Given the description of an element on the screen output the (x, y) to click on. 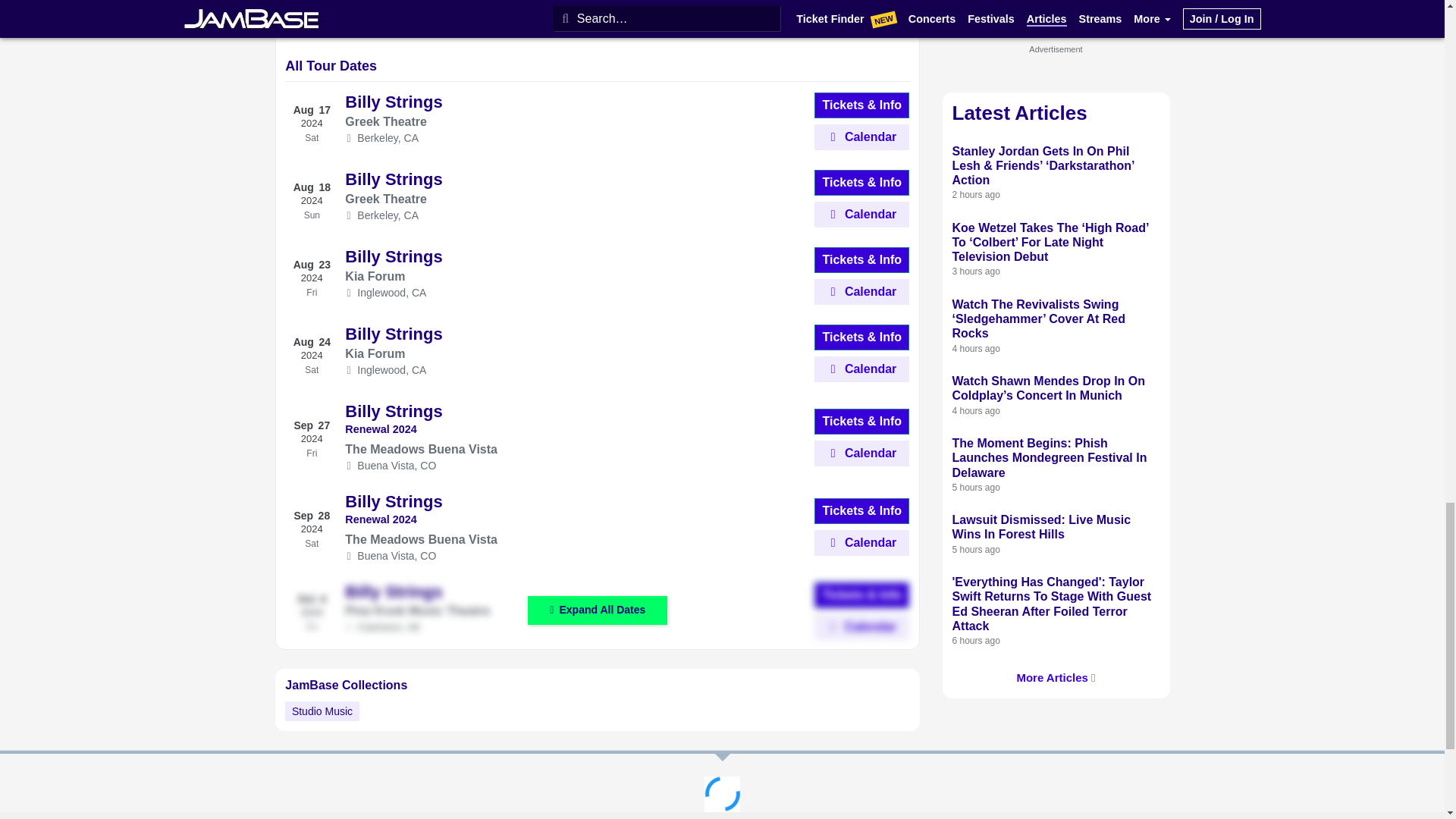
Click to register or log in. (860, 214)
Click to register or log in. (860, 626)
Click to register or log in. (860, 369)
Click to register or log in. (860, 291)
Click to register or log in. (860, 542)
Click to register or log in. (860, 136)
Click to register or log in. (860, 453)
